Given the description of an element on the screen output the (x, y) to click on. 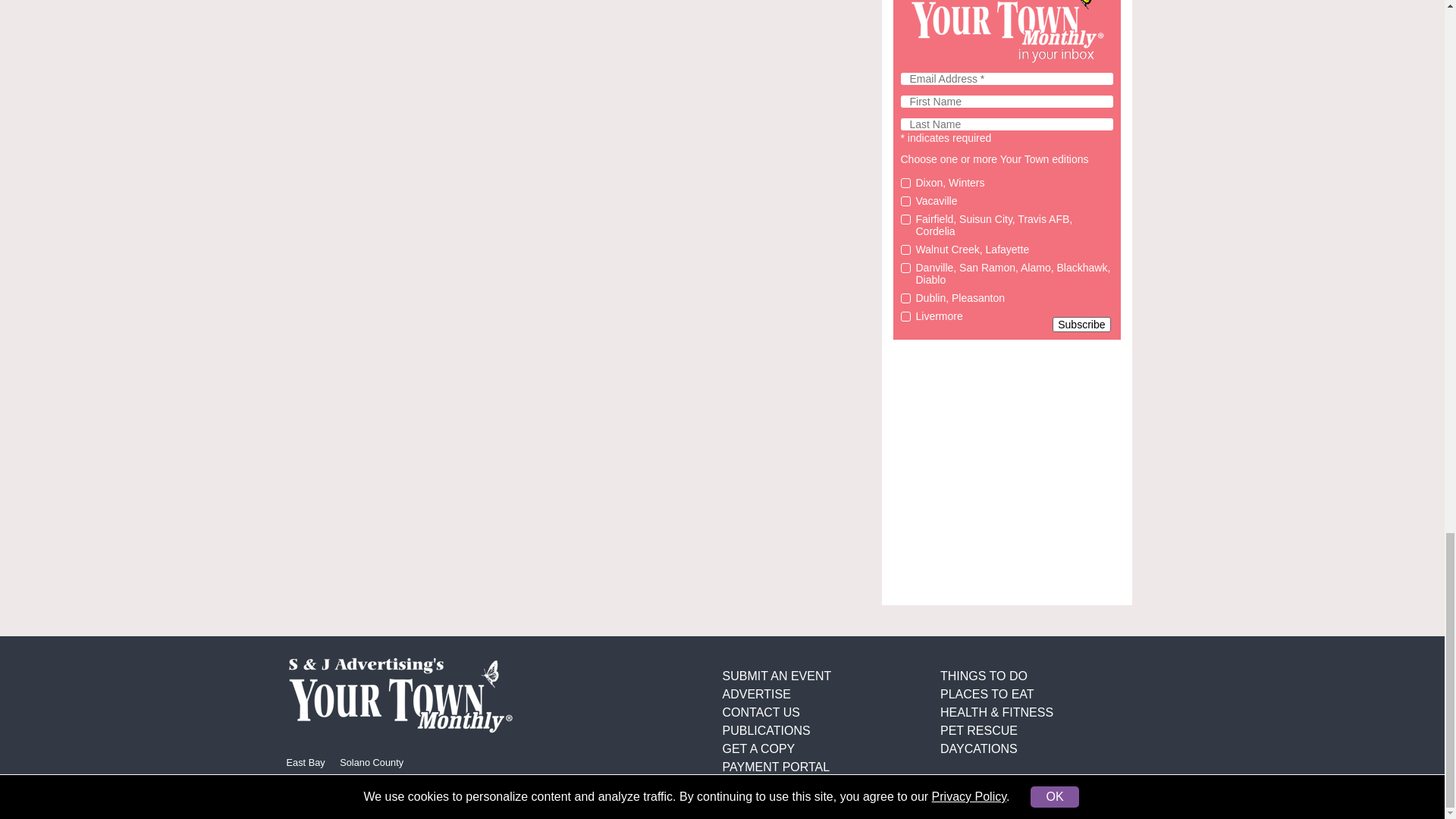
3rd party ad content (1007, 472)
Subscribe (1080, 324)
Follow us on Facebook (371, 761)
Follow us on Facebook (305, 761)
